Given the description of an element on the screen output the (x, y) to click on. 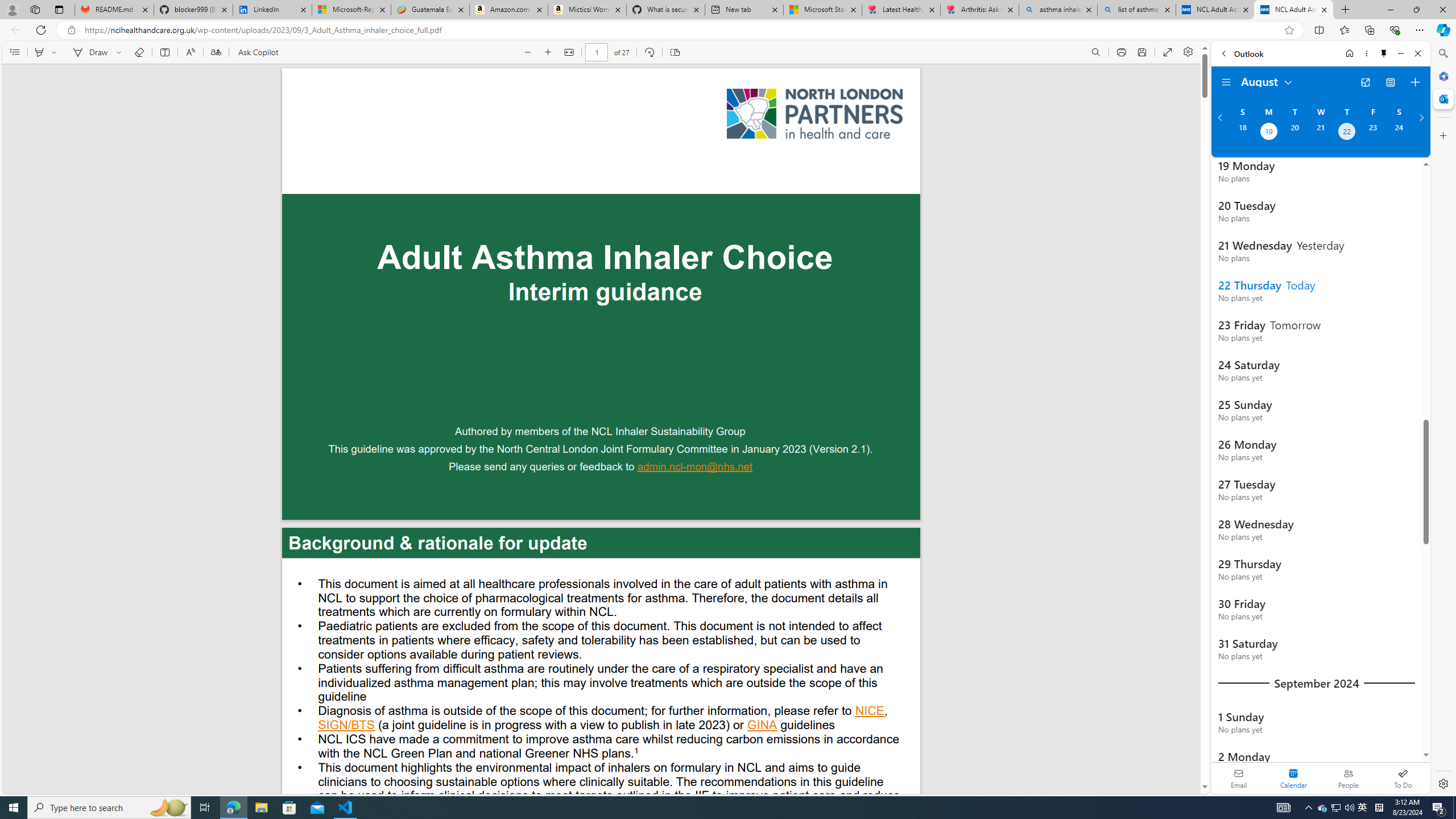
Friday, August 23, 2024.  (1372, 132)
Highlight (39, 52)
asthma inhaler - Search (1057, 9)
Zoom out (Ctrl+Minus key) (527, 52)
August (1267, 80)
Fit to width (Ctrl+\) (569, 52)
Selected calendar module. Date today is 22 (1293, 777)
